Given the description of an element on the screen output the (x, y) to click on. 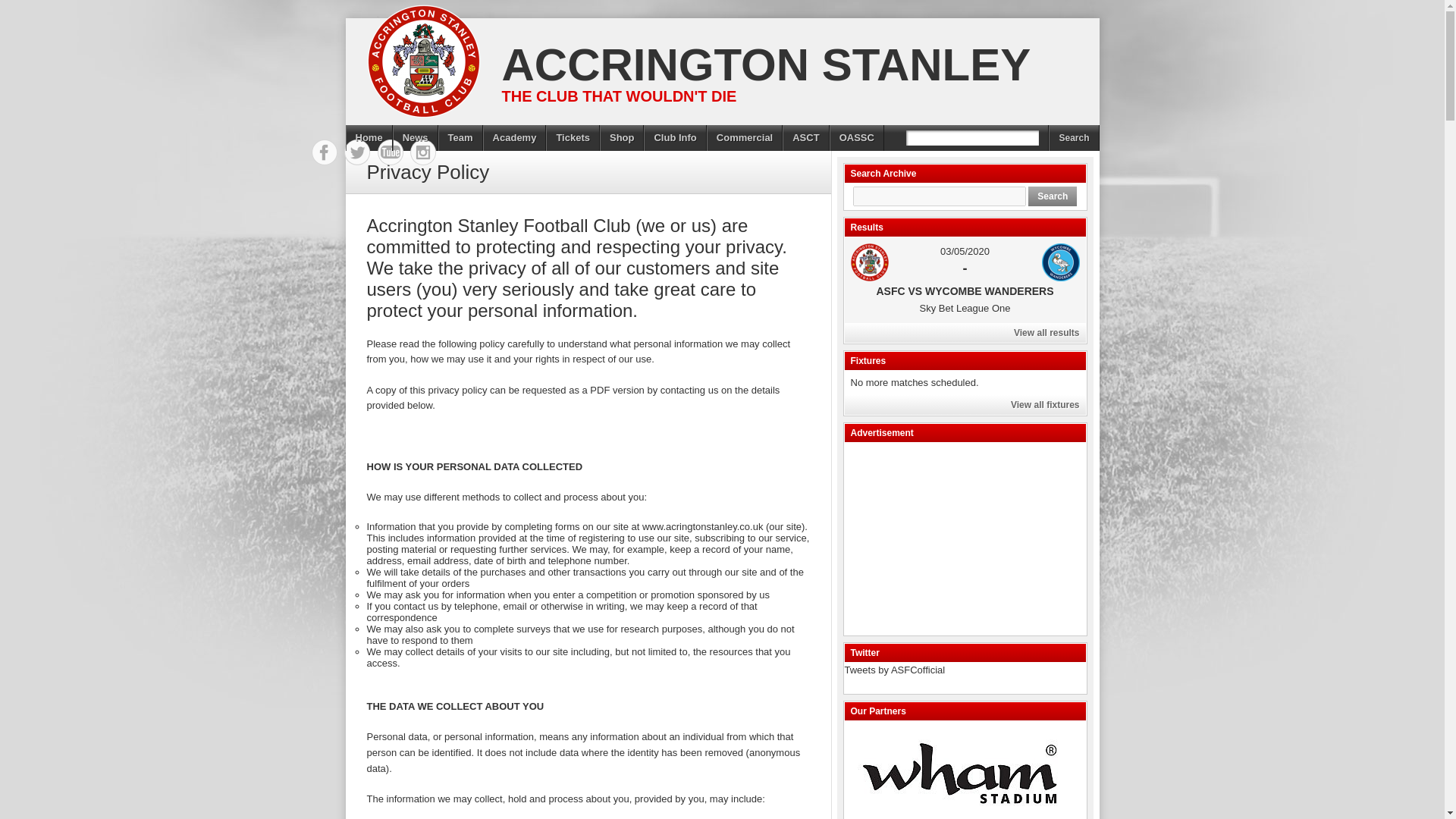
Home (368, 137)
Tickets (572, 137)
THE CLUB THAT WOULDN'T DIE (612, 95)
Team (460, 137)
Commercial (744, 137)
Shop (621, 137)
Search (1073, 137)
Twitter (357, 152)
Facebook (324, 152)
Search (1052, 196)
